Given the description of an element on the screen output the (x, y) to click on. 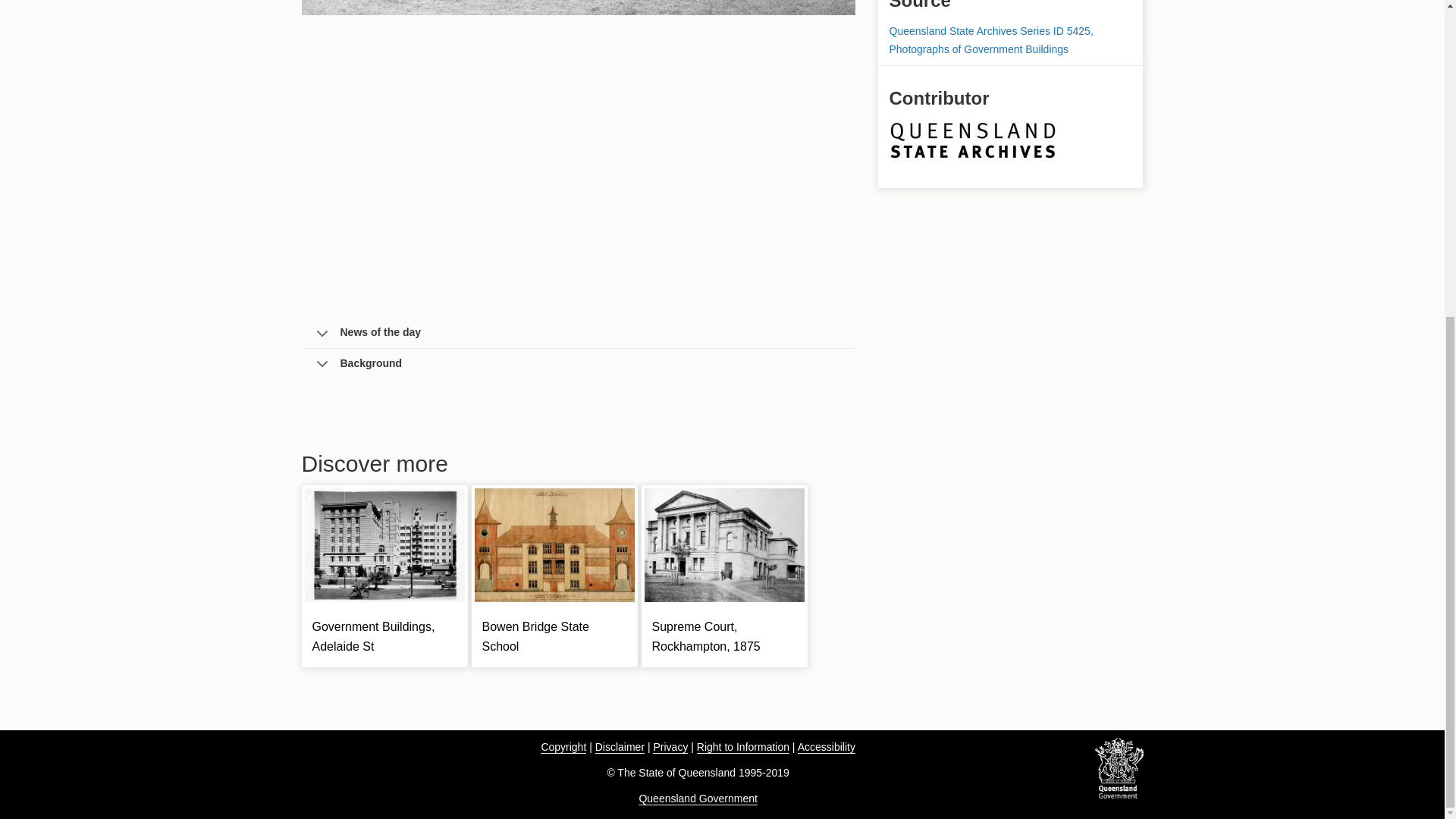
Architectural drawing of the Bowen Bridge State School (554, 544)
Background (577, 363)
Disclaimer (620, 747)
Government Buildings, 1935 (384, 544)
Supreme Court, Rockhampton, 1875 (706, 635)
Copyright (563, 747)
State School, Rockhampton (578, 7)
News of the day (577, 332)
Bowen Bridge State School (535, 635)
Government Buildings, Adelaide St (374, 635)
